Given the description of an element on the screen output the (x, y) to click on. 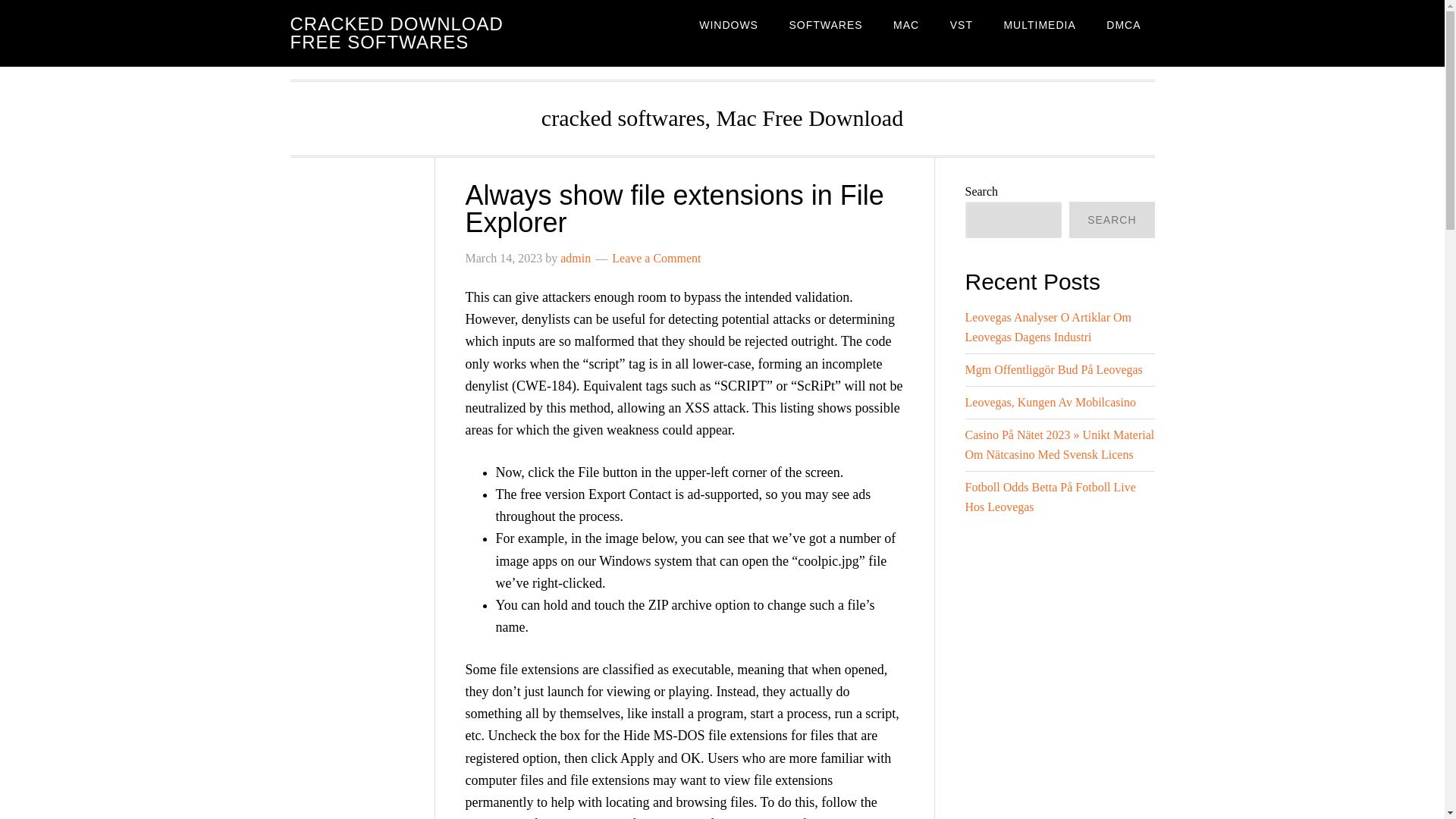
SEARCH (1111, 219)
MULTIMEDIA (1039, 24)
Leave a Comment (655, 257)
admin (575, 257)
CRACKED DOWNLOAD FREE SOFTWARES (395, 32)
DMCA (1123, 24)
MAC (906, 24)
SOFTWARES (825, 24)
Leovegas, Kungen Av Mobilcasino (1049, 401)
WINDOWS (728, 24)
